Given the description of an element on the screen output the (x, y) to click on. 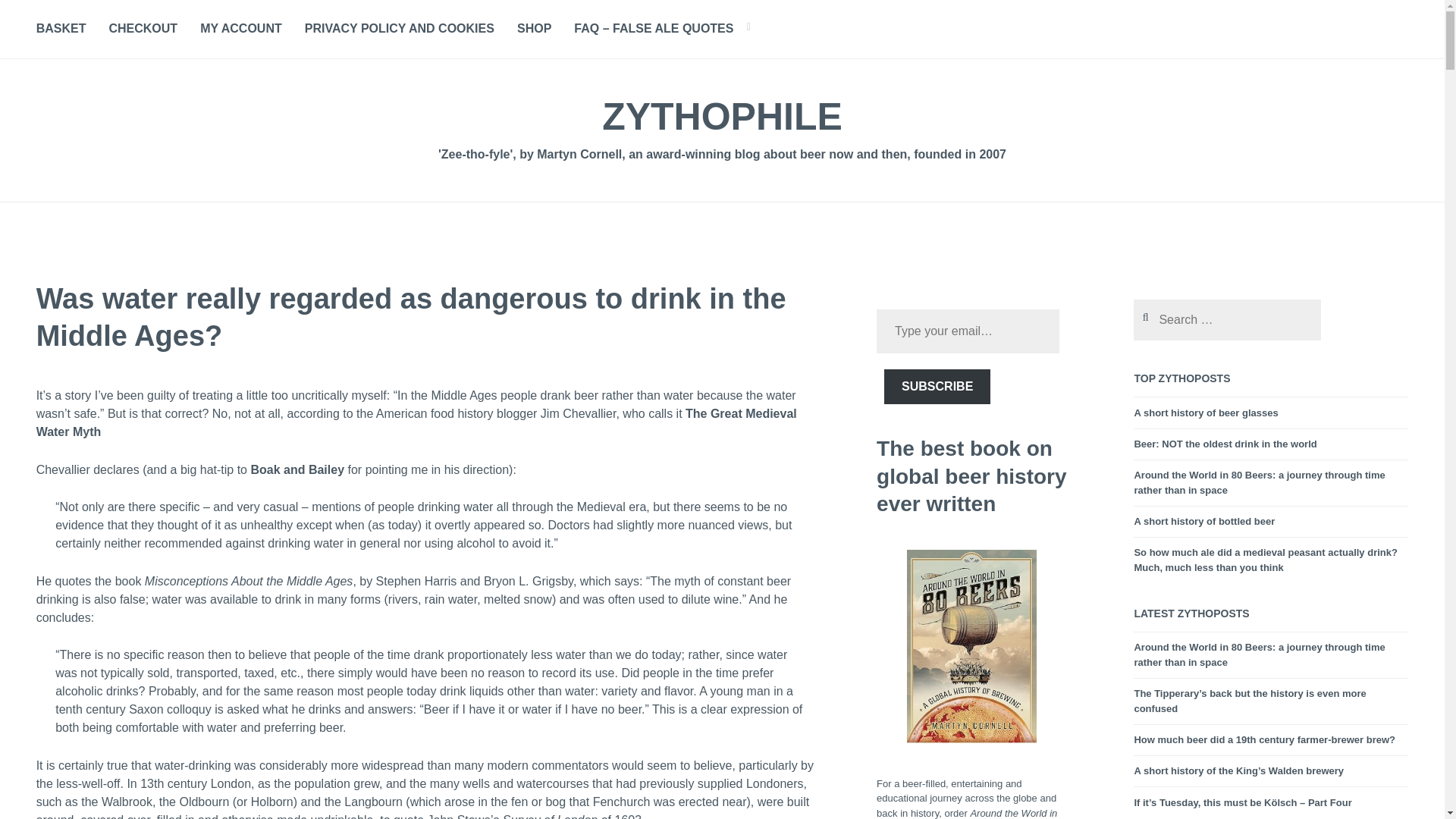
ZYTHOPHILE (722, 116)
Boak and Bailey (296, 470)
BASKET (60, 29)
The Great Medieval Water Myth (416, 423)
Boak and Bailey (296, 470)
PRIVACY POLICY AND COOKIES (399, 29)
CHECKOUT (142, 29)
MY ACCOUNT (241, 29)
SHOP (533, 29)
